Given the description of an element on the screen output the (x, y) to click on. 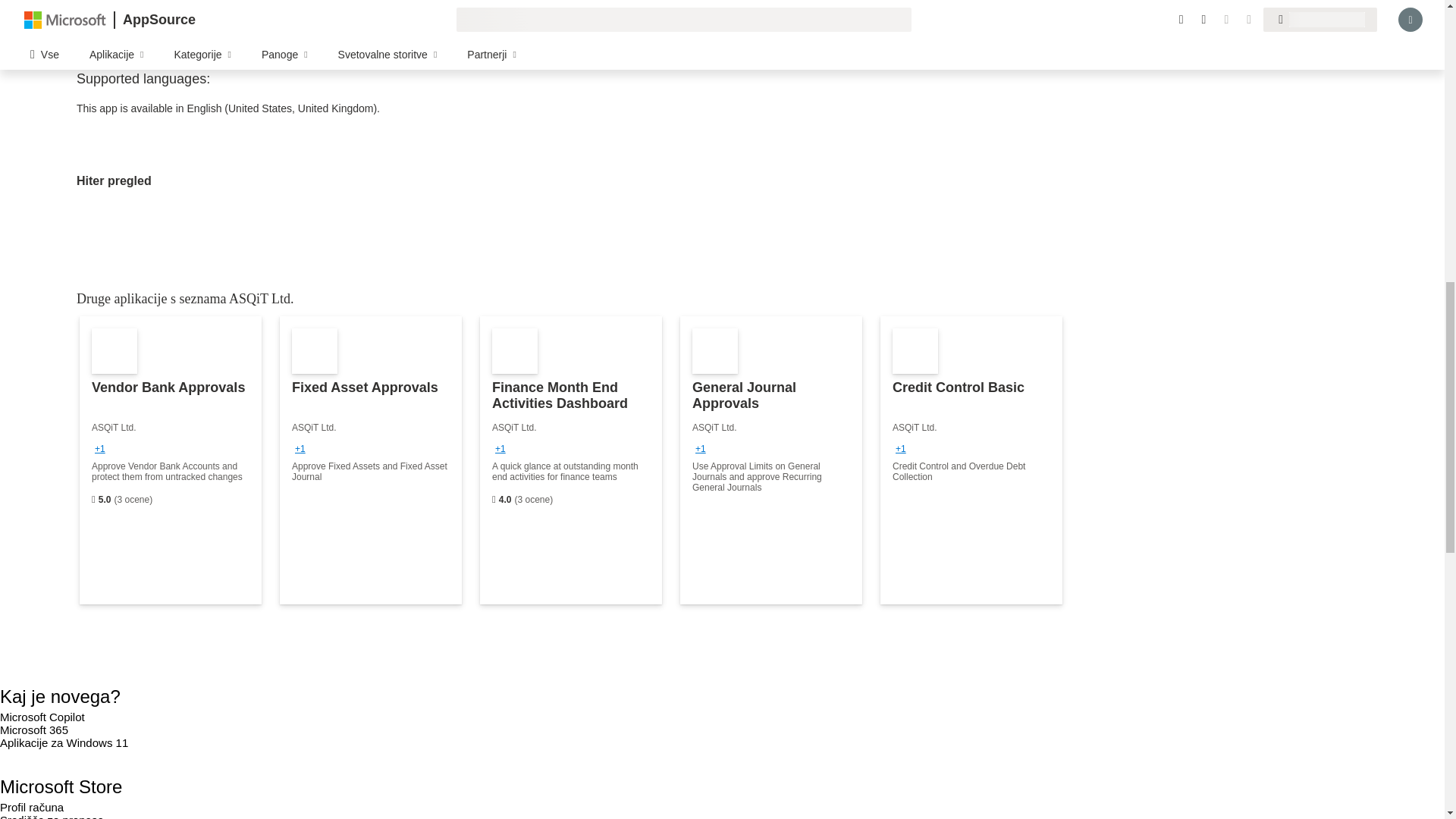
Microsoft 365 (34, 729)
Microsoft Copilot (42, 716)
Aplikacije za Windows 11 (64, 742)
